Given the description of an element on the screen output the (x, y) to click on. 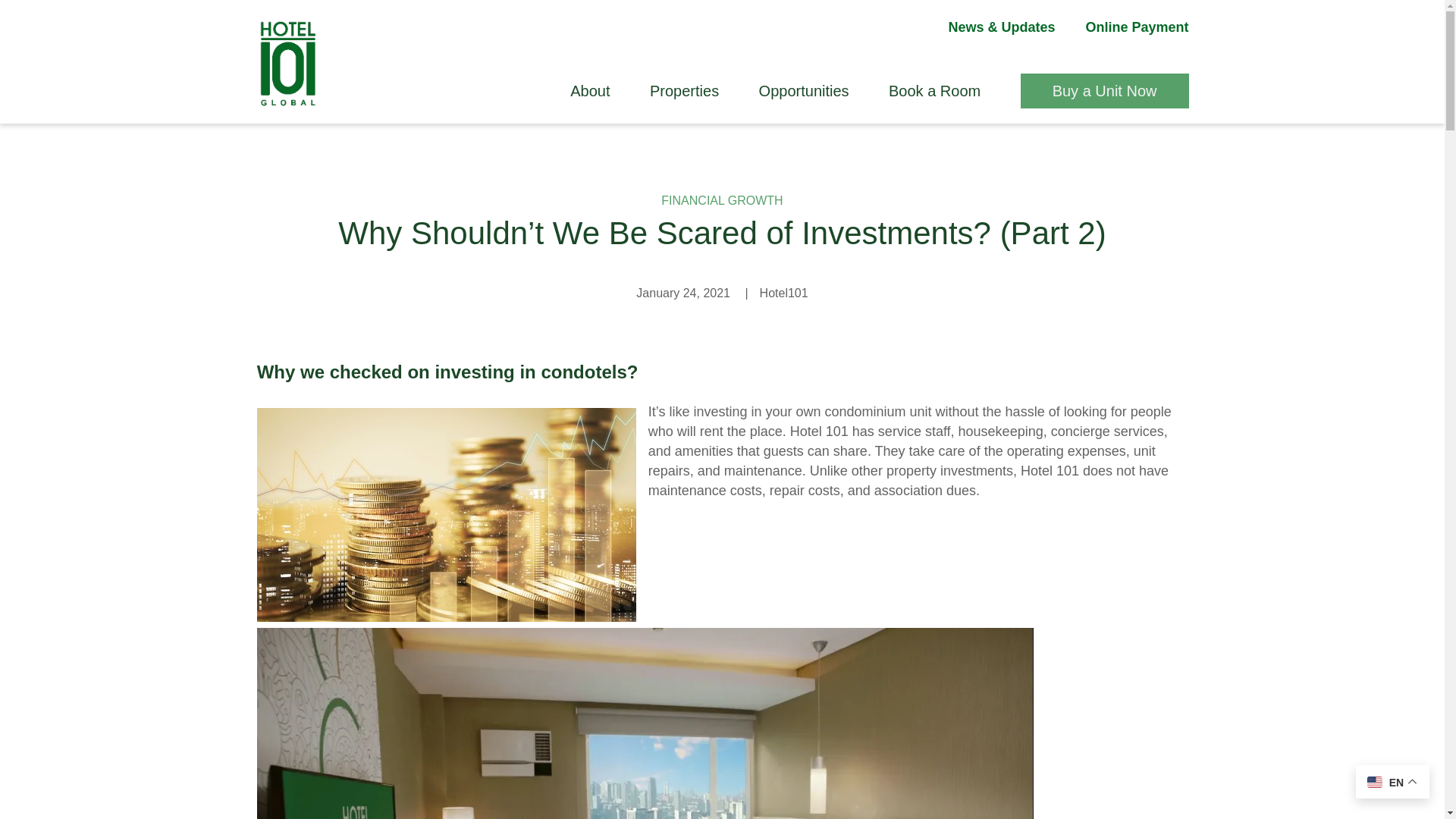
Online Payment (1129, 26)
Properties (684, 90)
Book a Room (933, 90)
Buy a Unit Now (1104, 90)
About (590, 90)
Opportunities (803, 90)
